Given the description of an element on the screen output the (x, y) to click on. 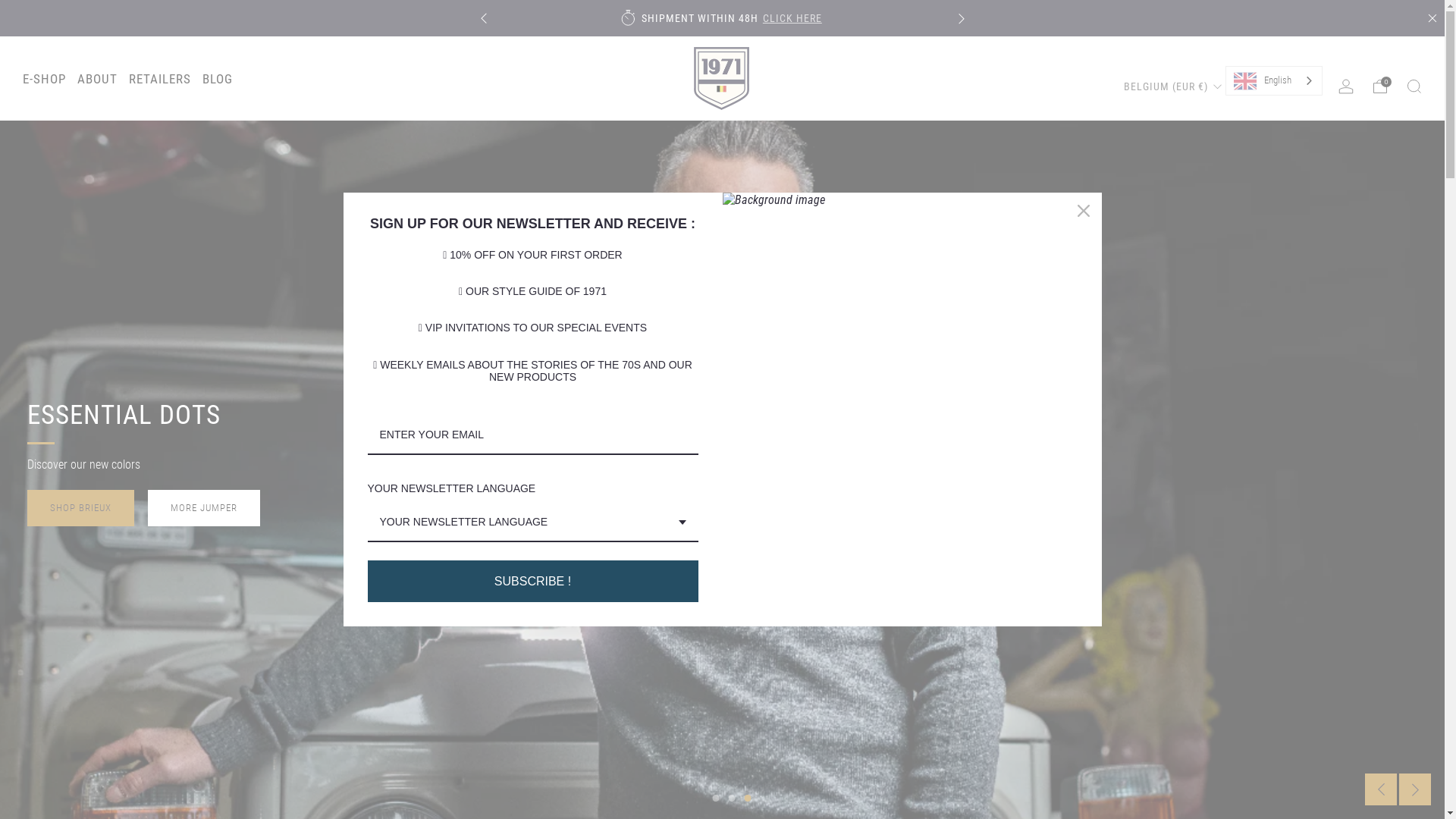
3 Element type: text (746, 797)
SHOP BRIEUX Element type: text (80, 507)
English Element type: text (1273, 80)
RETAILERS Element type: text (159, 78)
2 Element type: text (731, 797)
BLOG Element type: text (217, 78)
SUBSCRIBE ! Element type: text (532, 581)
MORE JUMPER Element type: text (203, 507)
ABOUT Element type: text (97, 78)
0 Element type: text (1379, 86)
1 Element type: text (715, 797)
LEARN MORE Element type: text (870, 18)
E-SHOP Element type: text (43, 78)
CLICK HERE Element type: text (1253, 18)
